Given the description of an element on the screen output the (x, y) to click on. 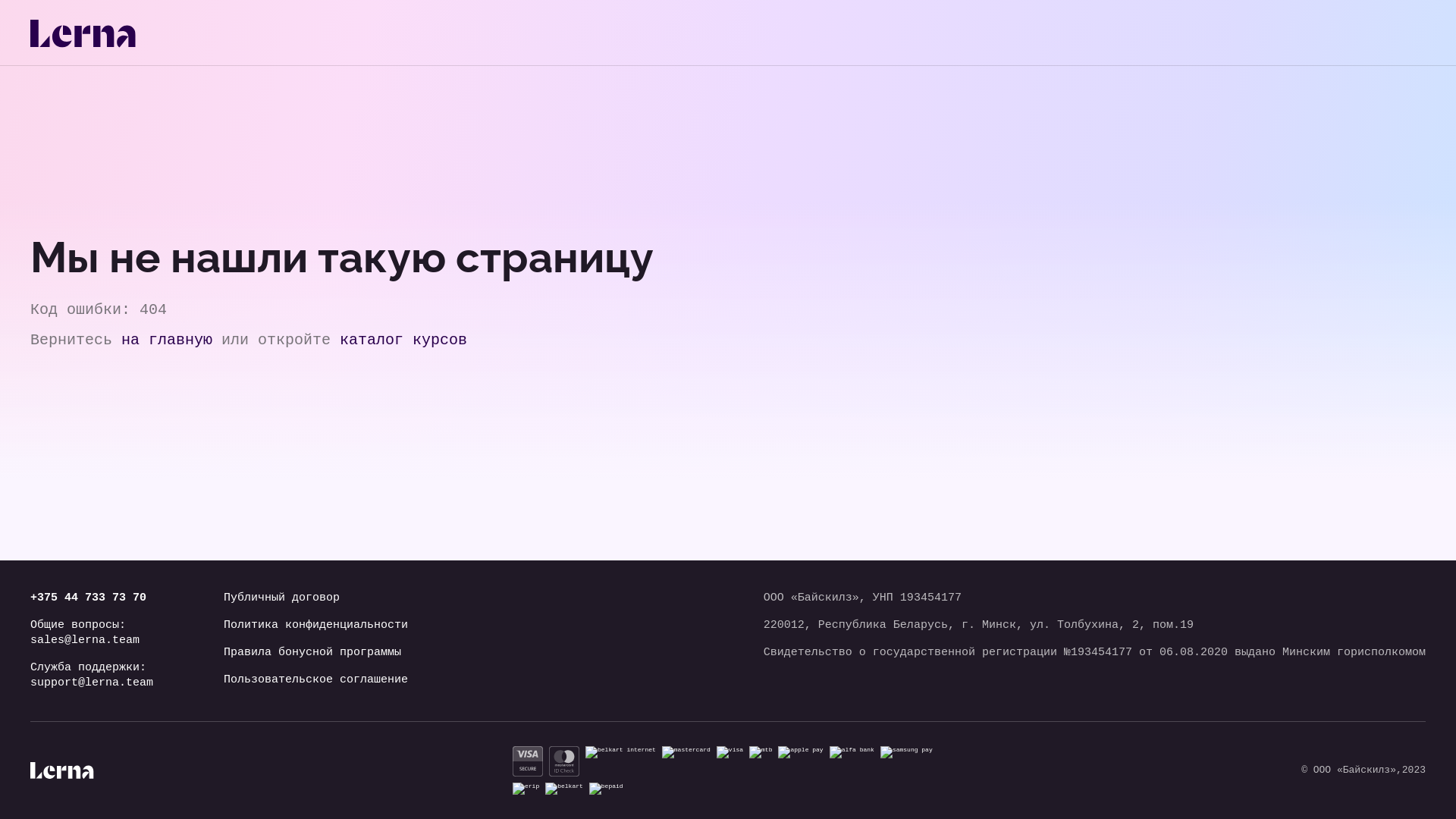
support@lerna.team Element type: text (91, 682)
sales@lerna.team Element type: text (91, 640)
+375 44 733 73 70 Element type: text (91, 597)
